Given the description of an element on the screen output the (x, y) to click on. 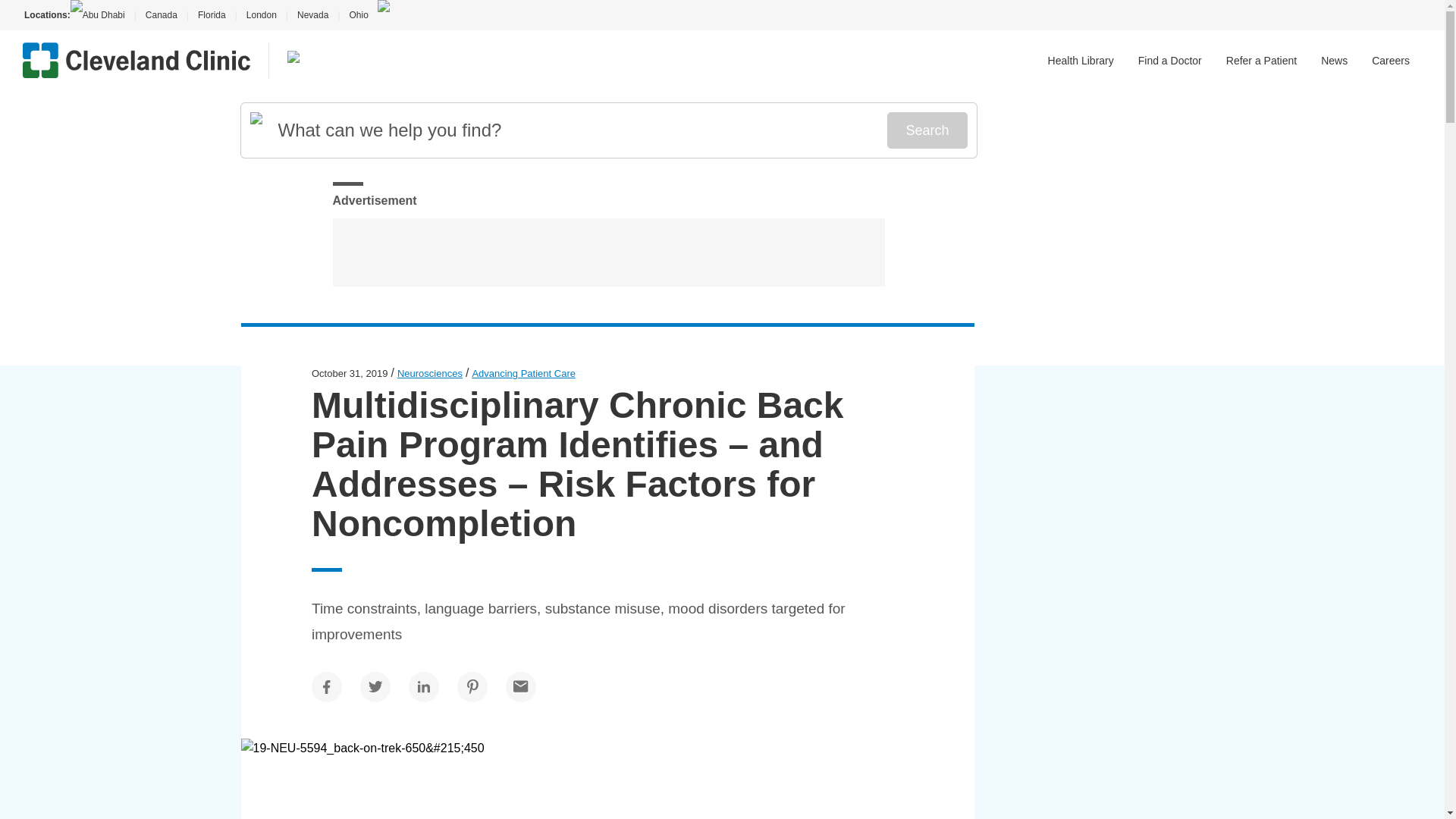
Careers (1390, 60)
Florida (211, 15)
Nevada (312, 15)
London (261, 15)
Ohio (358, 15)
Canada (161, 15)
Abu Dhabi (101, 15)
News (1334, 60)
Advancing Patient Care (523, 373)
Health Library (1080, 60)
Neurosciences (430, 373)
Find a Doctor (1170, 60)
Refer a Patient (1261, 60)
